Given the description of an element on the screen output the (x, y) to click on. 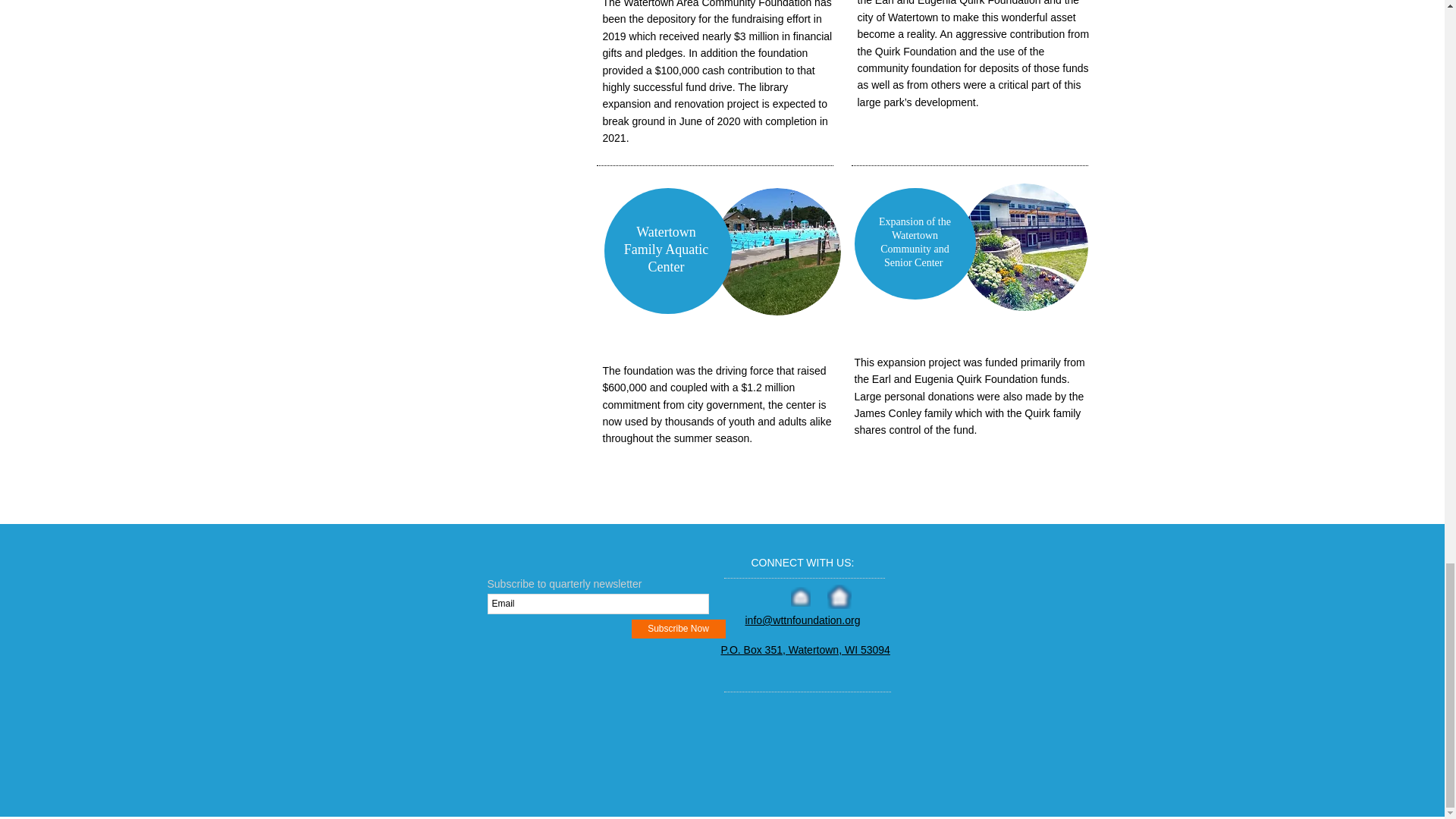
P.O. Box 351, Watertown, WI 53094 (804, 649)
Subscribe Now (677, 628)
